Given the description of an element on the screen output the (x, y) to click on. 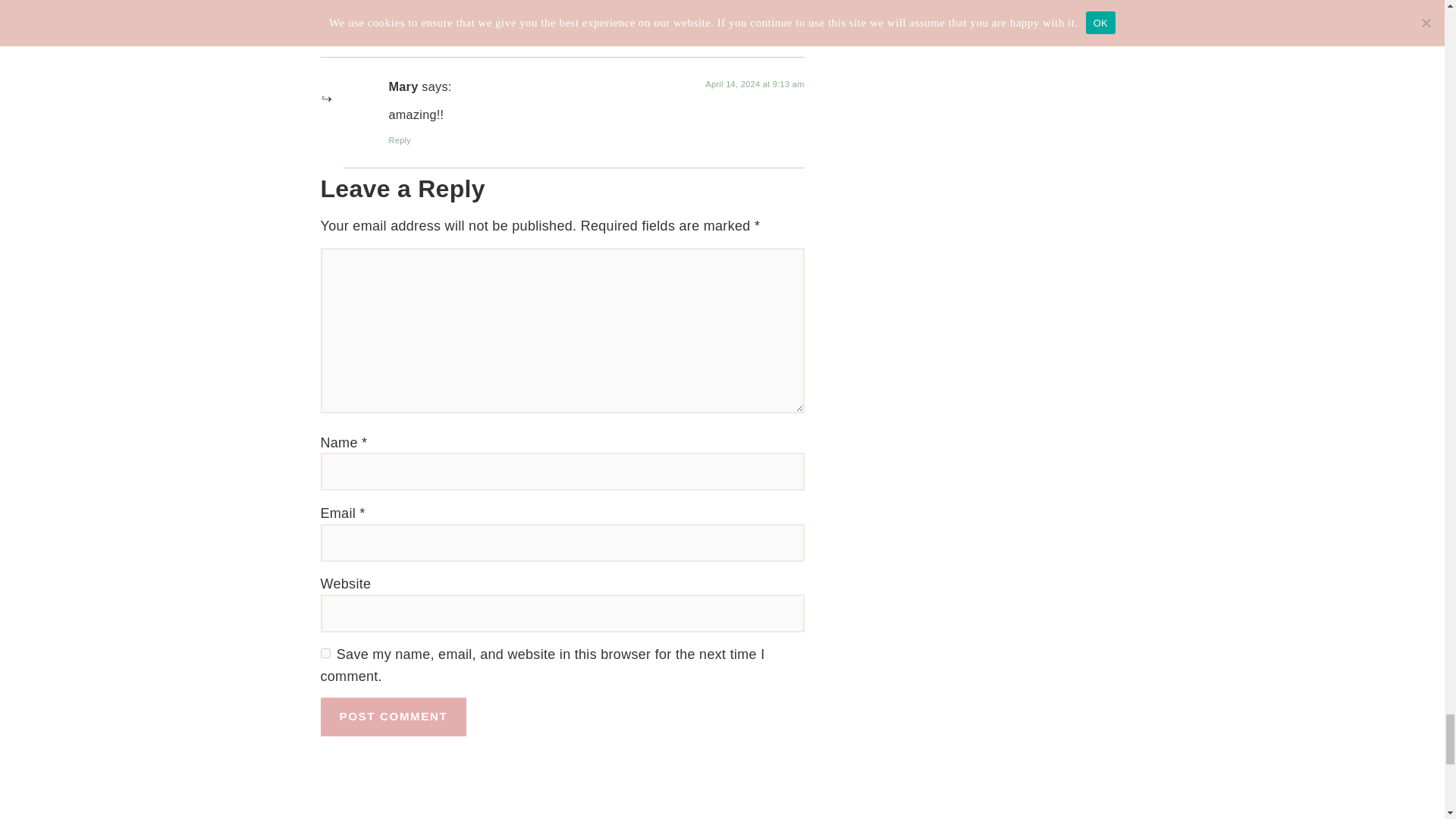
Post Comment (392, 716)
yes (325, 653)
